Given the description of an element on the screen output the (x, y) to click on. 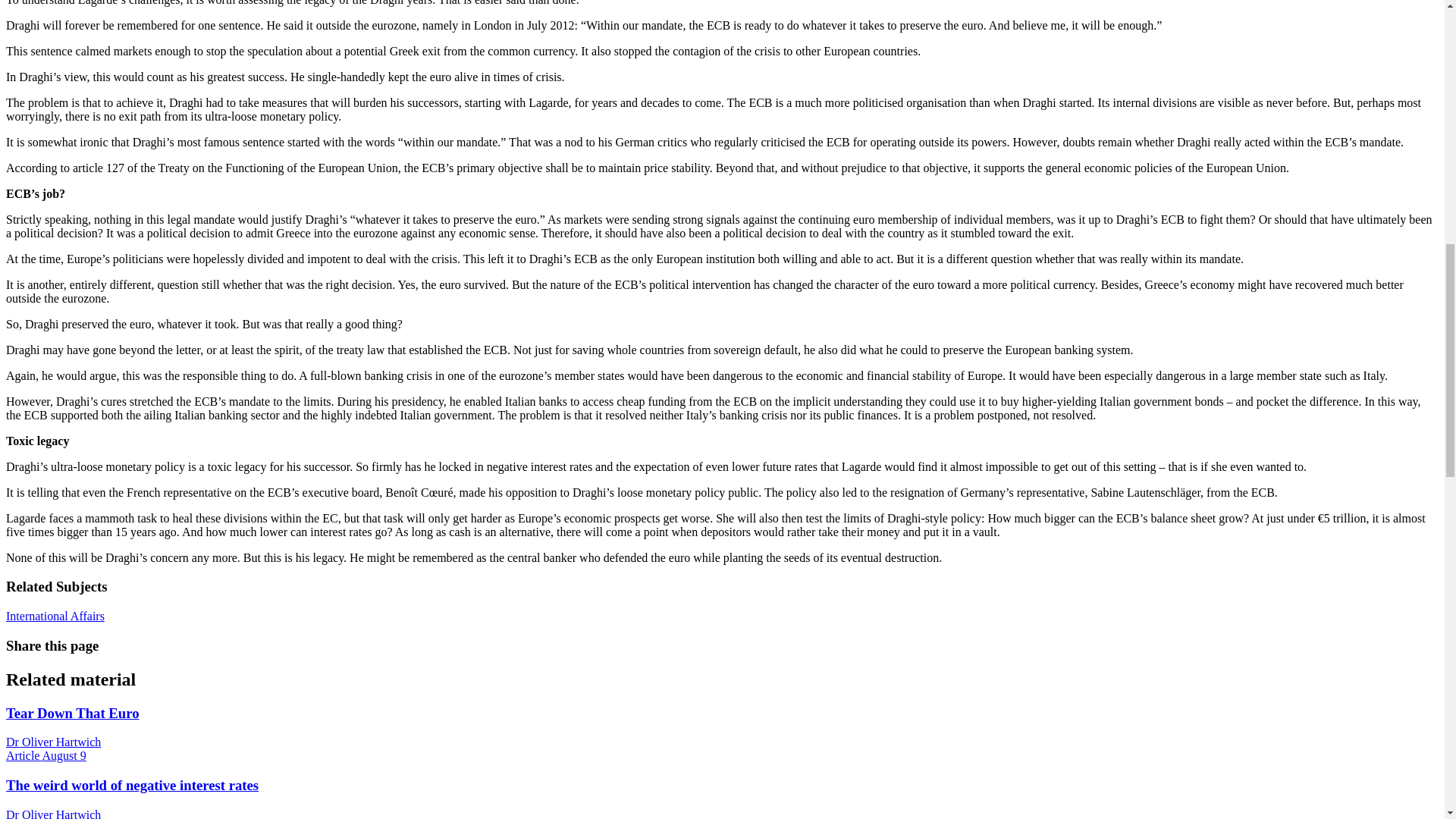
International Affairs (54, 615)
